Given the description of an element on the screen output the (x, y) to click on. 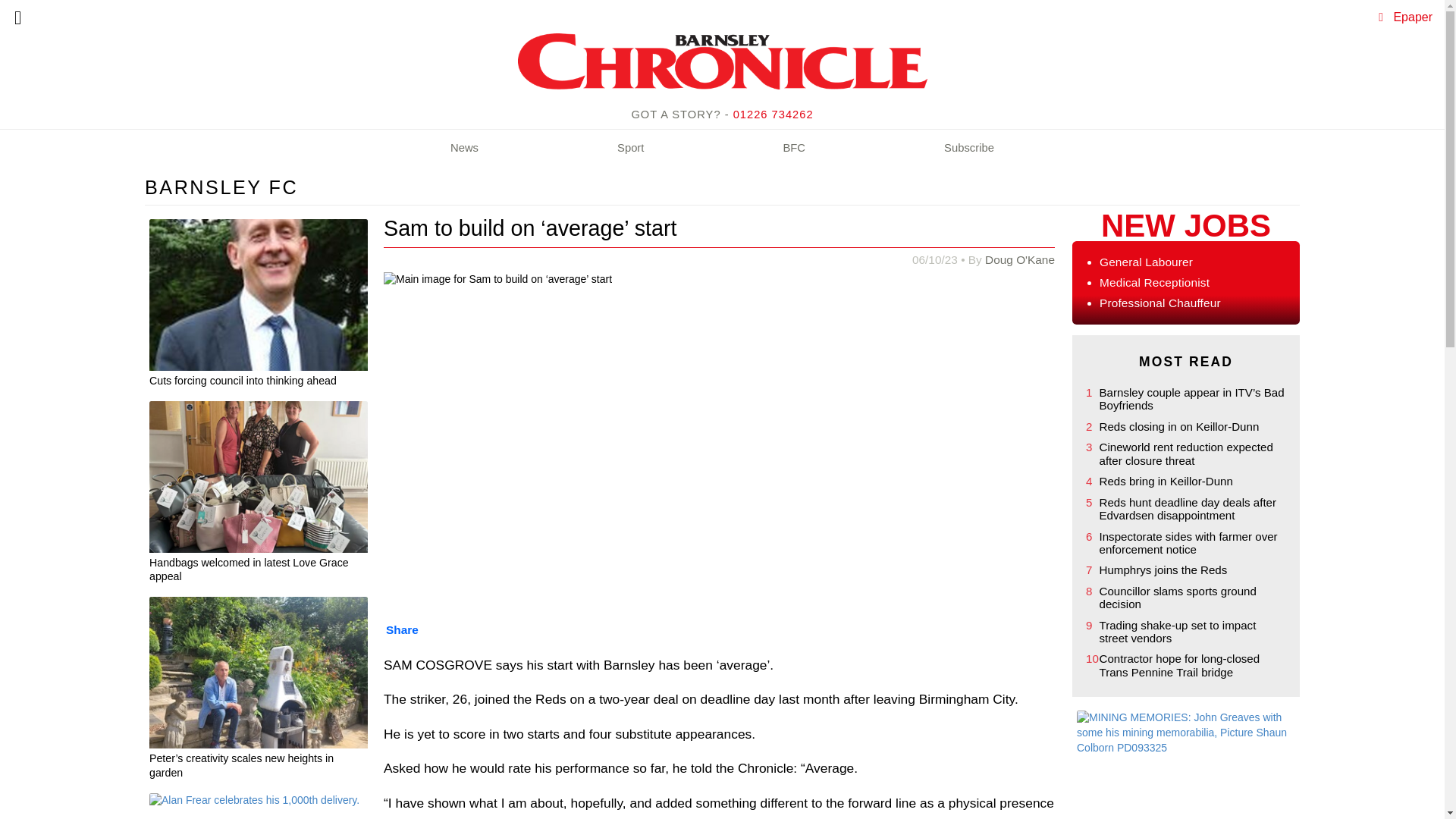
01226 734262 (773, 114)
Sport (630, 148)
Epaper (1412, 16)
Subscribe (968, 148)
News (464, 148)
BFC (793, 148)
Cuts forcing council into thinking ahead (258, 382)
